Given the description of an element on the screen output the (x, y) to click on. 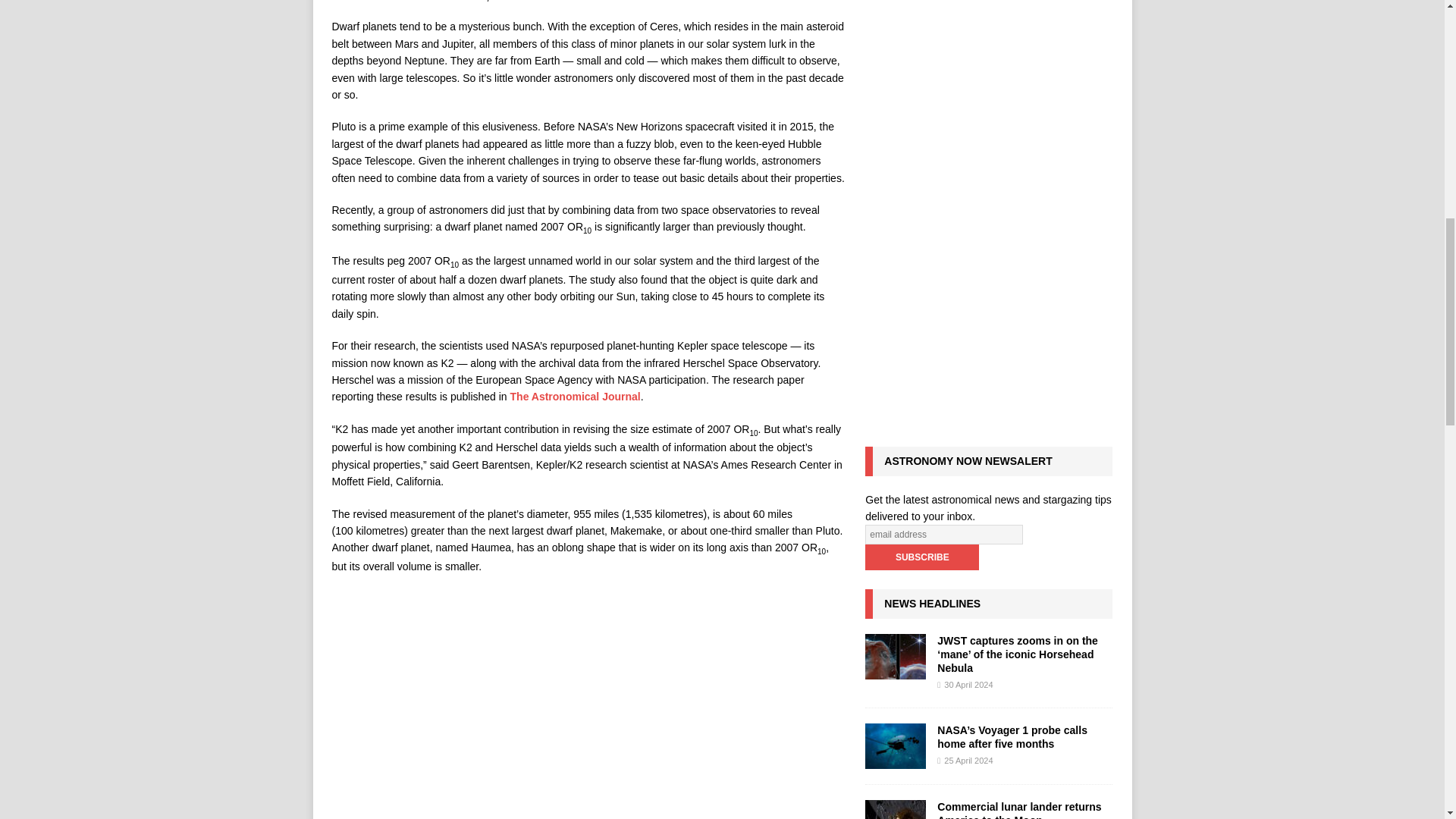
Subscribe (921, 557)
